Given the description of an element on the screen output the (x, y) to click on. 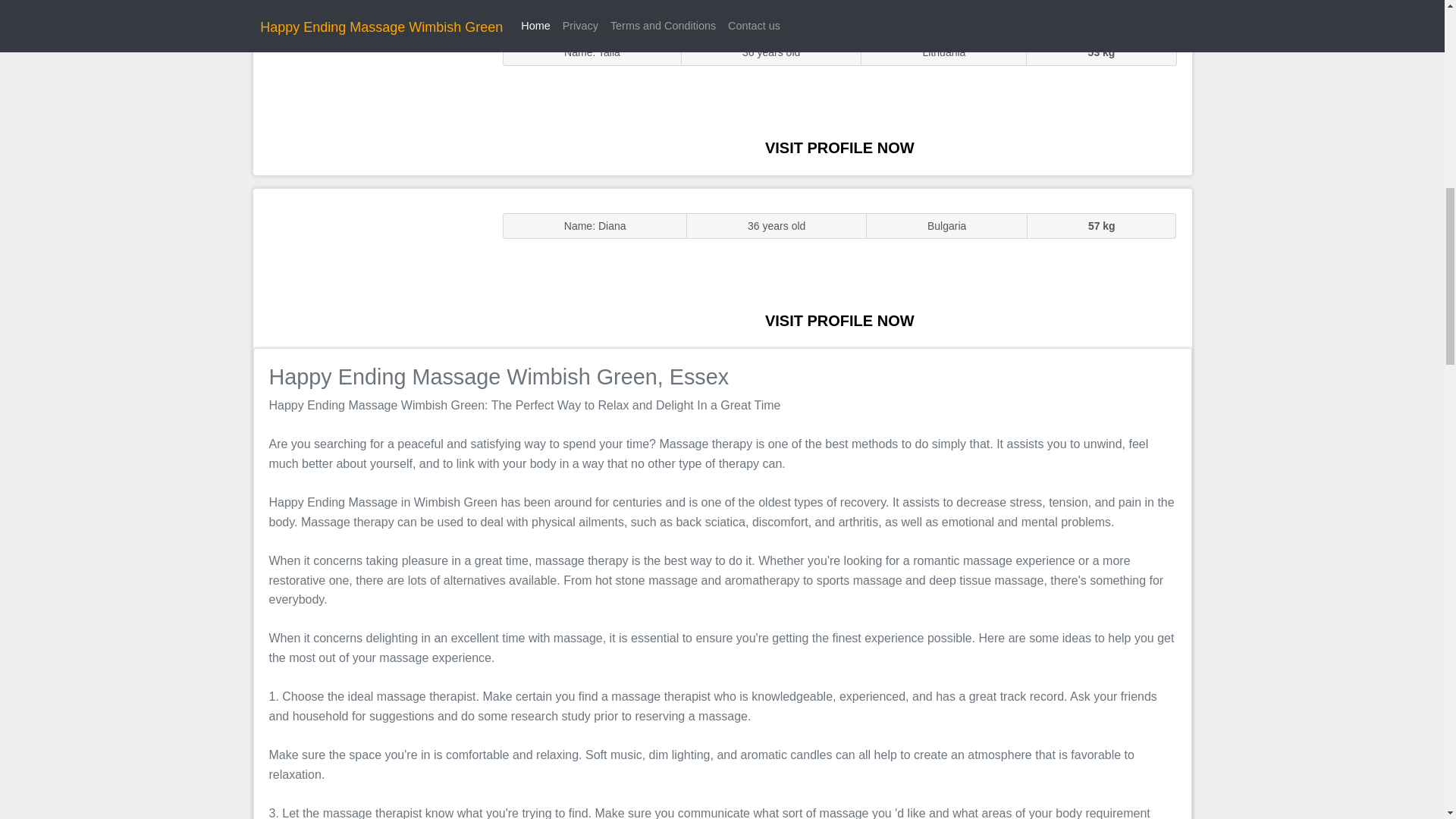
Massage (370, 267)
VISIT PROFILE NOW (839, 320)
Sluts (370, 94)
VISIT PROFILE NOW (839, 147)
